Given the description of an element on the screen output the (x, y) to click on. 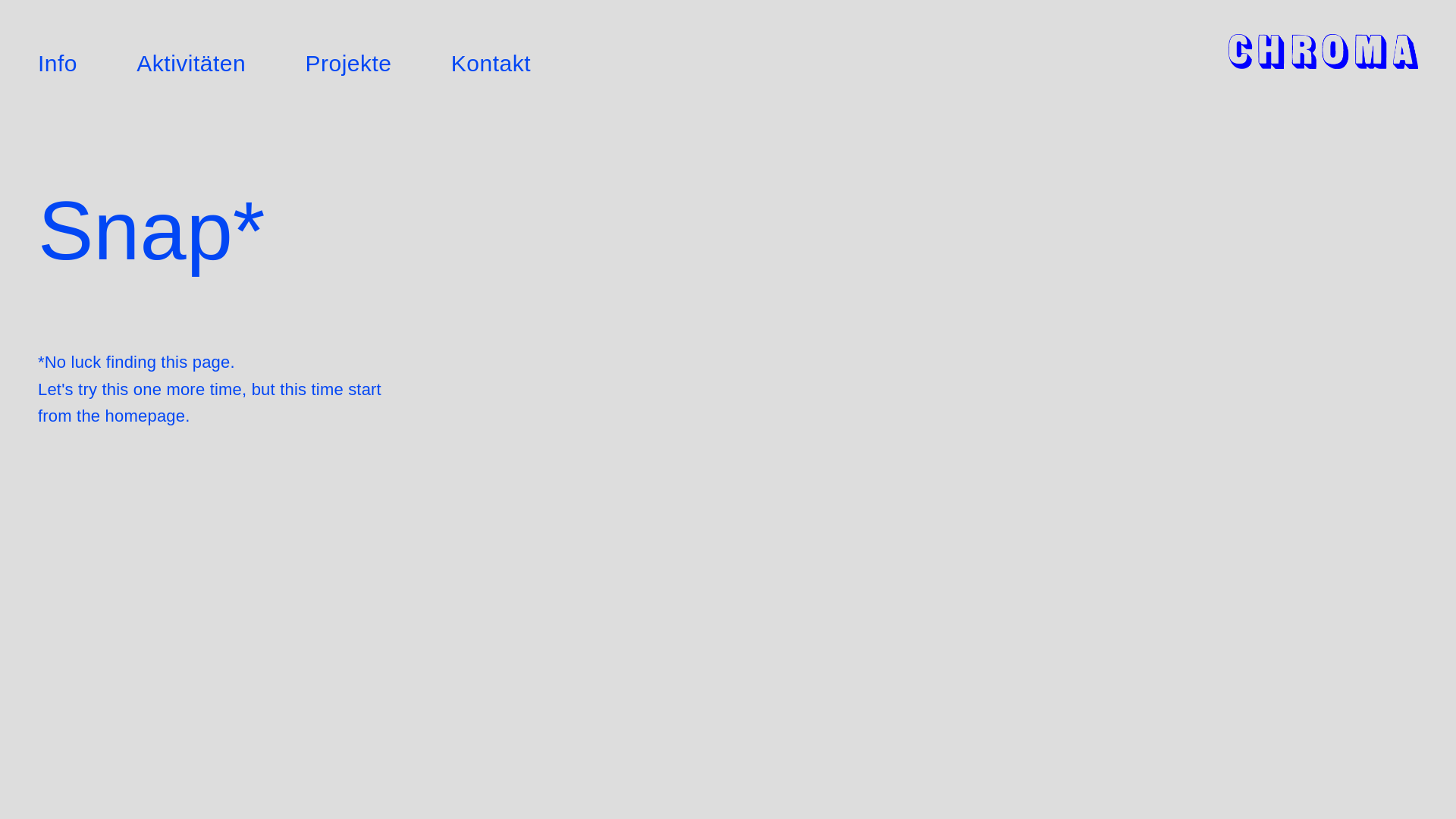
homepage Element type: text (145, 415)
Kontakt Element type: text (490, 63)
Info Element type: text (57, 63)
Projekte Element type: text (347, 63)
